Given the description of an element on the screen output the (x, y) to click on. 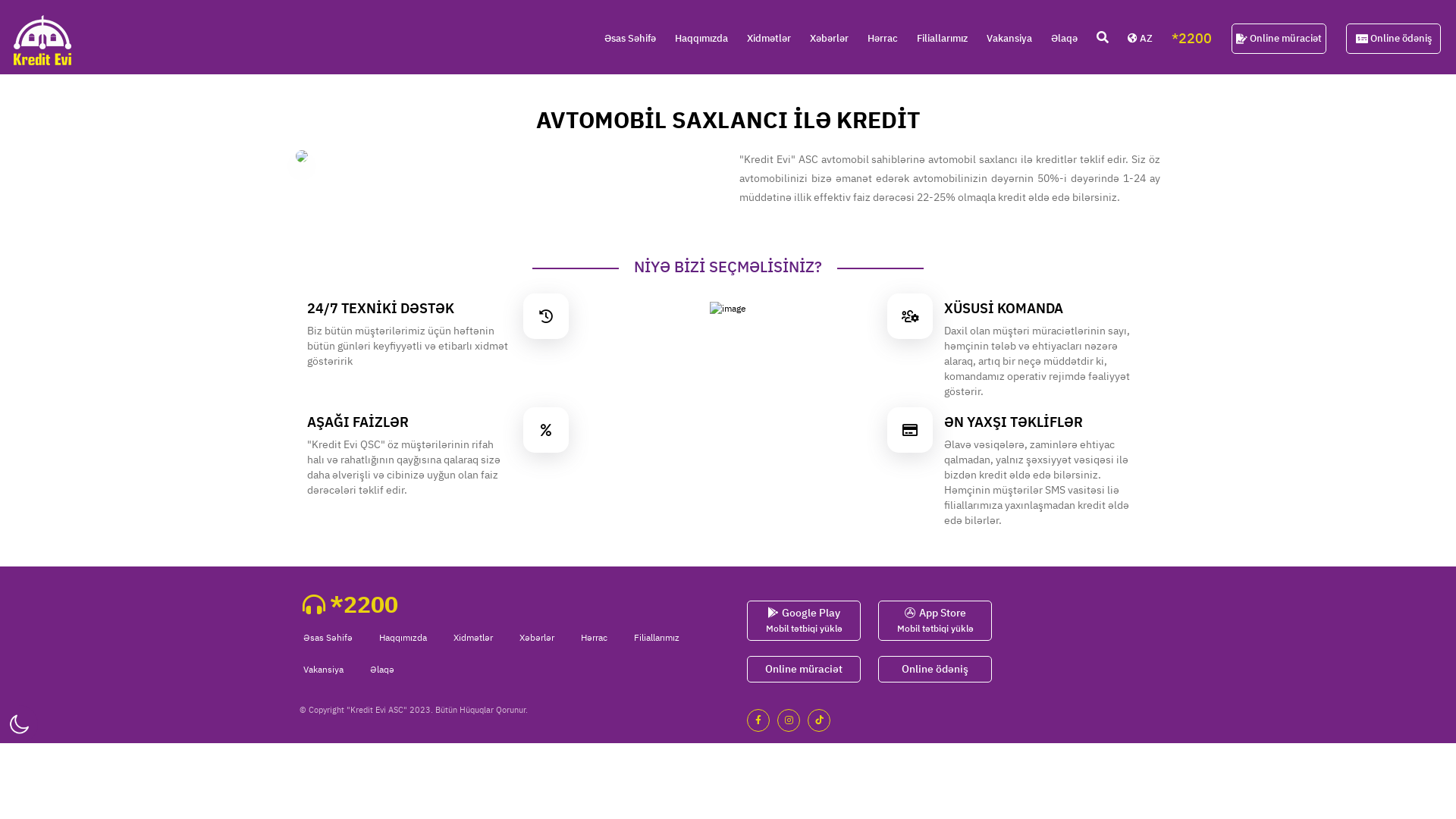
*2200 Element type: text (350, 604)
Vakansiya Element type: text (323, 668)
AZ Element type: text (1139, 38)
Vakansiya Element type: text (1009, 38)
*2200 Element type: text (1191, 38)
